Given the description of an element on the screen output the (x, y) to click on. 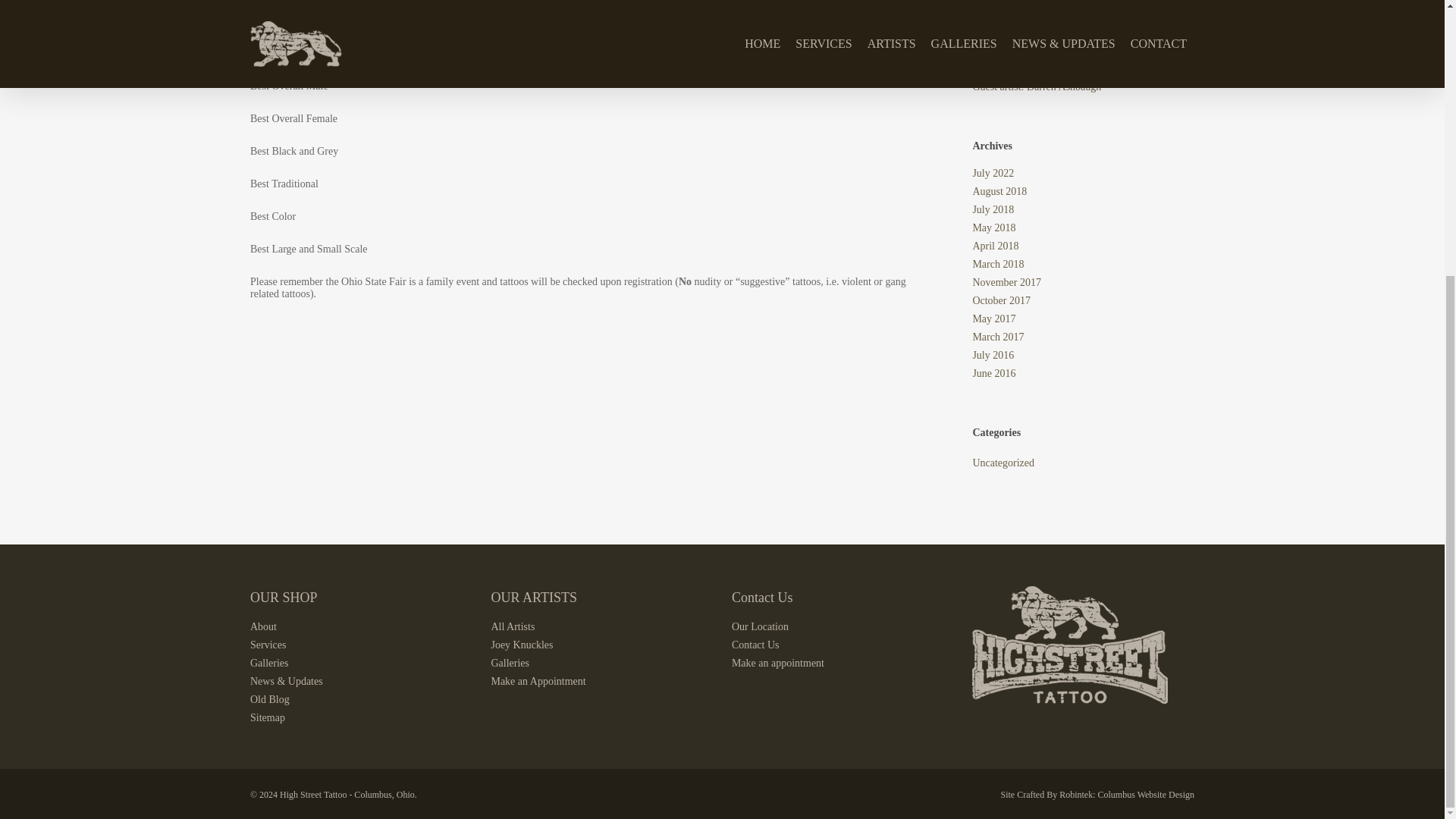
Guest artist: Darren Ashbaugh (1082, 87)
June 2016 (1082, 373)
November 2017 (1082, 282)
April 2018 (1082, 246)
March 2017 (1082, 337)
here (403, 20)
May 2018 (1082, 227)
October 2017 (1082, 300)
Welcome Myles McCain to the team! (1082, 69)
July 2016 (1082, 355)
